Given the description of an element on the screen output the (x, y) to click on. 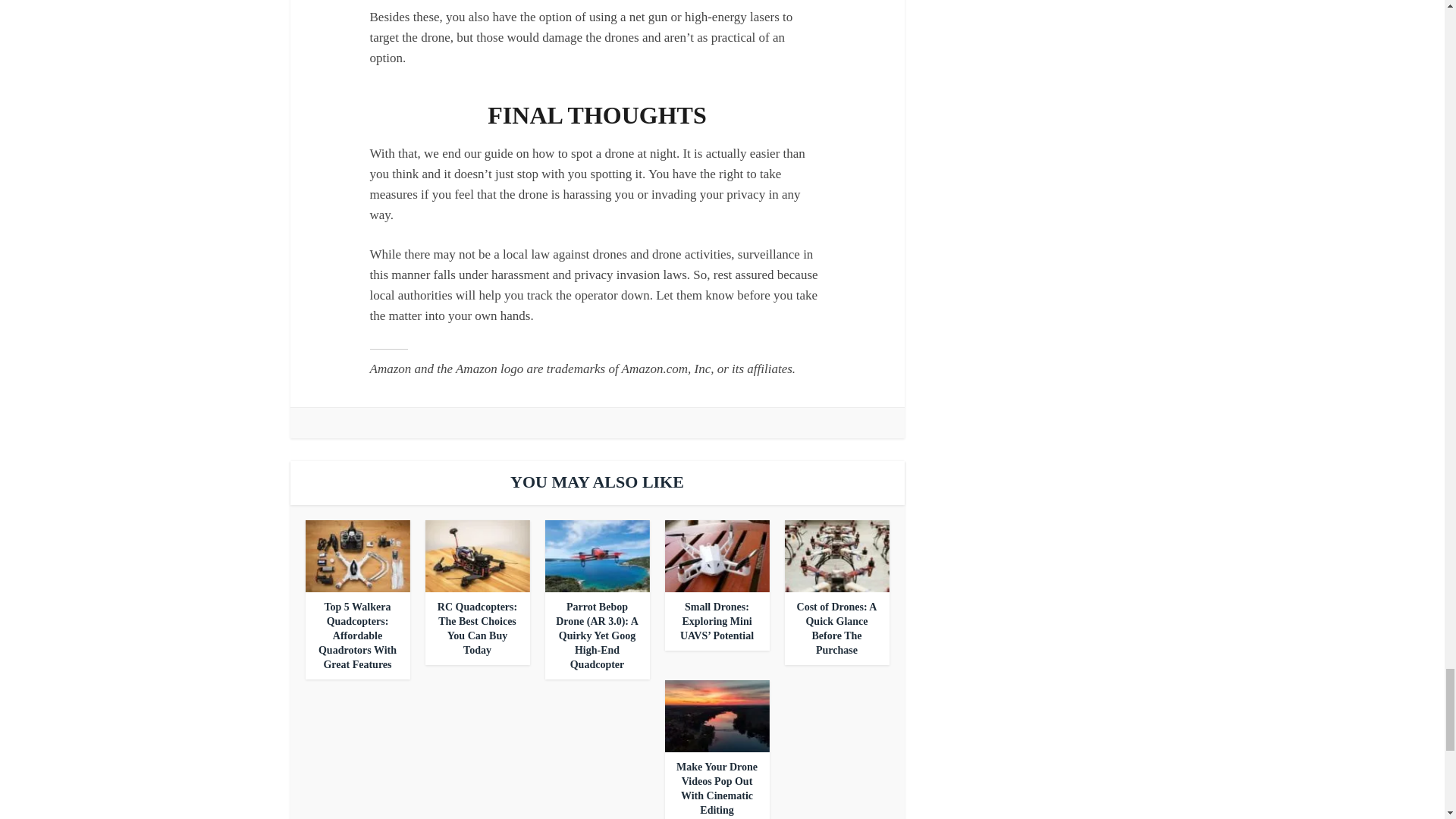
Cost of Drones: A Quick Glance Before The Purchase (836, 628)
RC Quadcopters: The Best Choices You Can Buy Today (477, 555)
Cost of Drones: A Quick Glance Before The Purchase (836, 555)
Make Your Drone Videos Pop Out With Cinematic Editing (715, 715)
Make Your Drone Videos Pop Out With Cinematic Editing (717, 788)
Cost of Drones: A Quick Glance Before The Purchase (836, 628)
Make Your Drone Videos Pop Out With Cinematic Editing (717, 788)
RC Quadcopters: The Best Choices You Can Buy Today (477, 628)
